Given the description of an element on the screen output the (x, y) to click on. 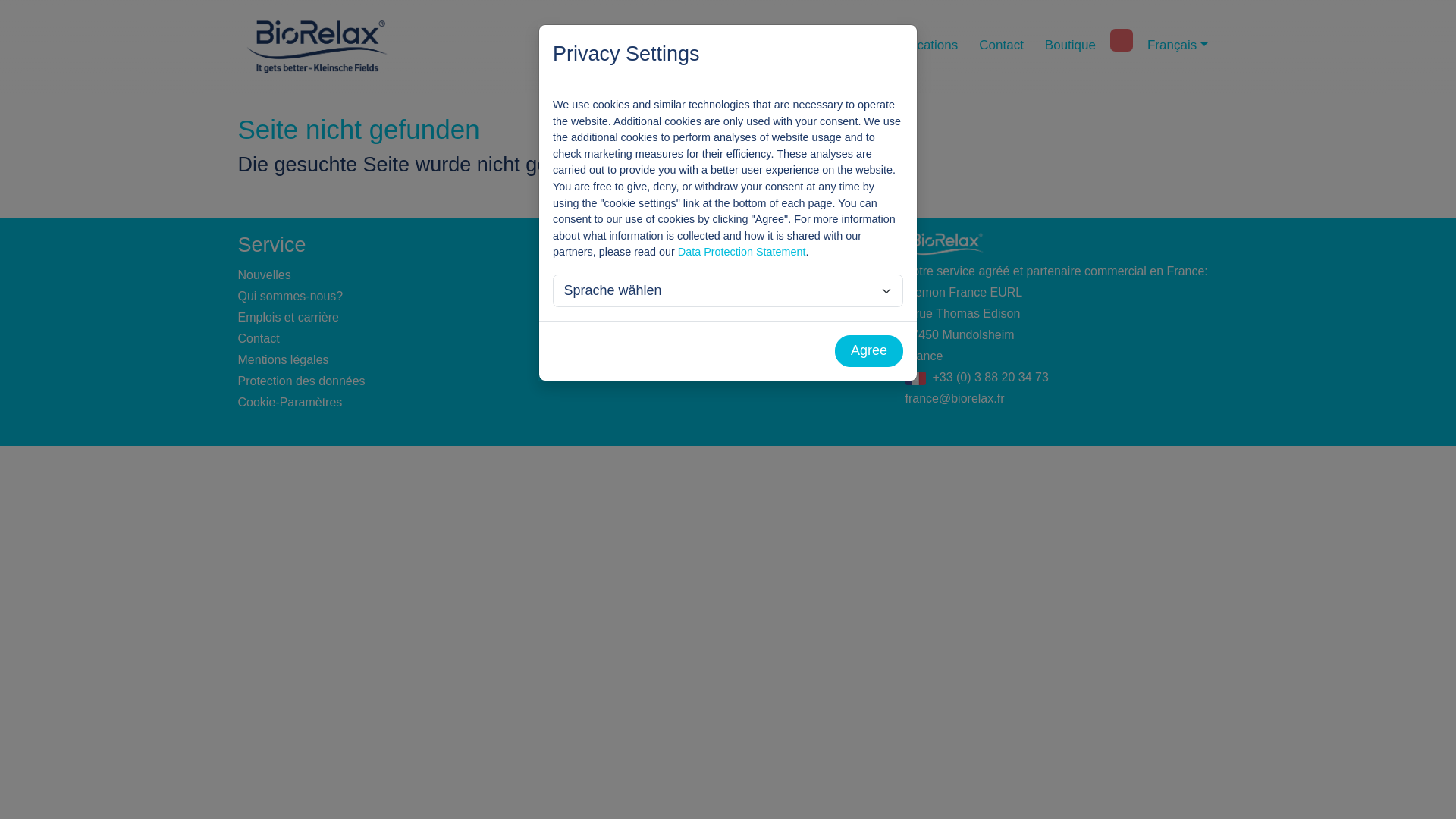
CGV Element type: text (584, 359)
france@biorelax.fr Element type: text (954, 398)
+33 (0) 3 88 20 34 73 Element type: text (989, 376)
Contact Element type: text (1001, 45)
Start Element type: text (738, 45)
Contact Element type: text (258, 338)
Agree Element type: text (868, 351)
Connexion Element type: text (600, 295)
Nouvelles Element type: text (264, 274)
Applications Element type: text (923, 45)
Boutique Element type: text (1070, 45)
Data Protection Statement Element type: text (741, 251)
Shop Element type: text (585, 274)
Qui sommes-nous? Element type: text (290, 295)
Kleinsche Fields Element type: text (820, 45)
